Given the description of an element on the screen output the (x, y) to click on. 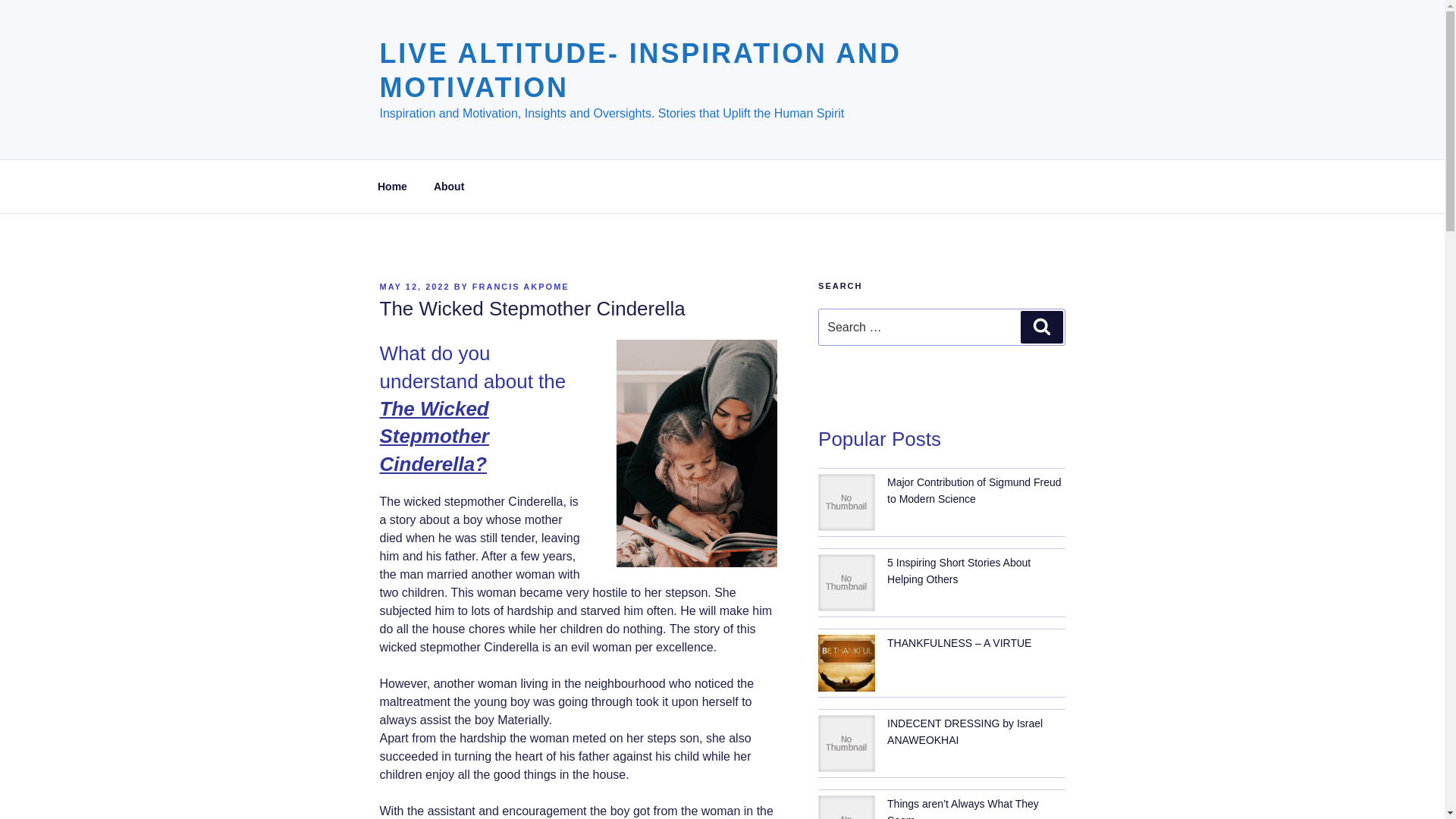
MAY 12, 2022 (413, 286)
LIVE ALTITUDE- INSPIRATION AND MOTIVATION (639, 70)
INDECENT DRESSING by Israel ANAWEOKHAI (964, 731)
Major Contribution of Sigmund Freud to Modern Science (973, 490)
Search (1041, 327)
FRANCIS AKPOME (520, 286)
Home (392, 186)
About (448, 186)
5 Inspiring Short Stories About Helping Others (958, 570)
